Given the description of an element on the screen output the (x, y) to click on. 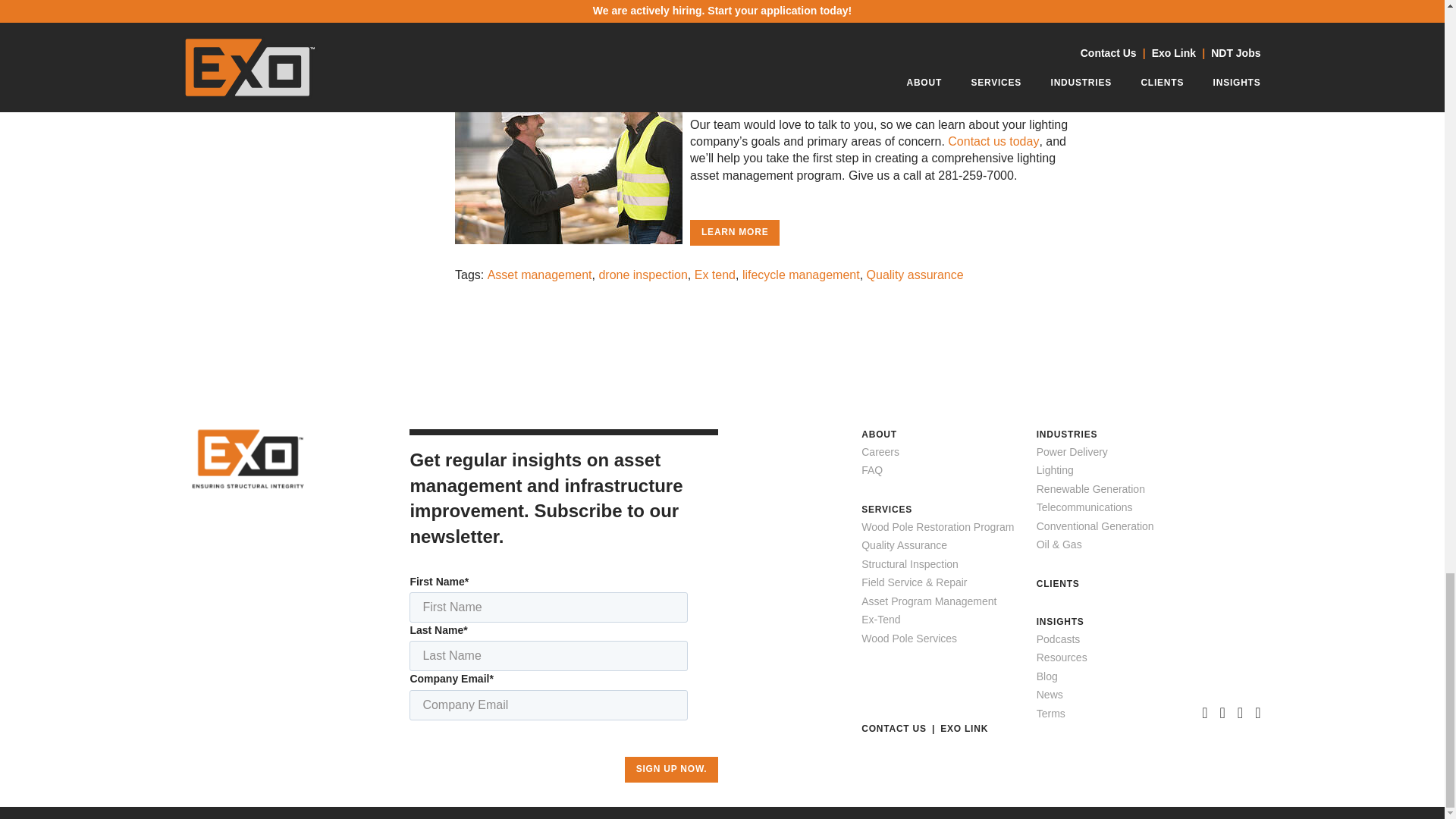
Learn More (734, 232)
Sign Up Now. (671, 769)
